Given the description of an element on the screen output the (x, y) to click on. 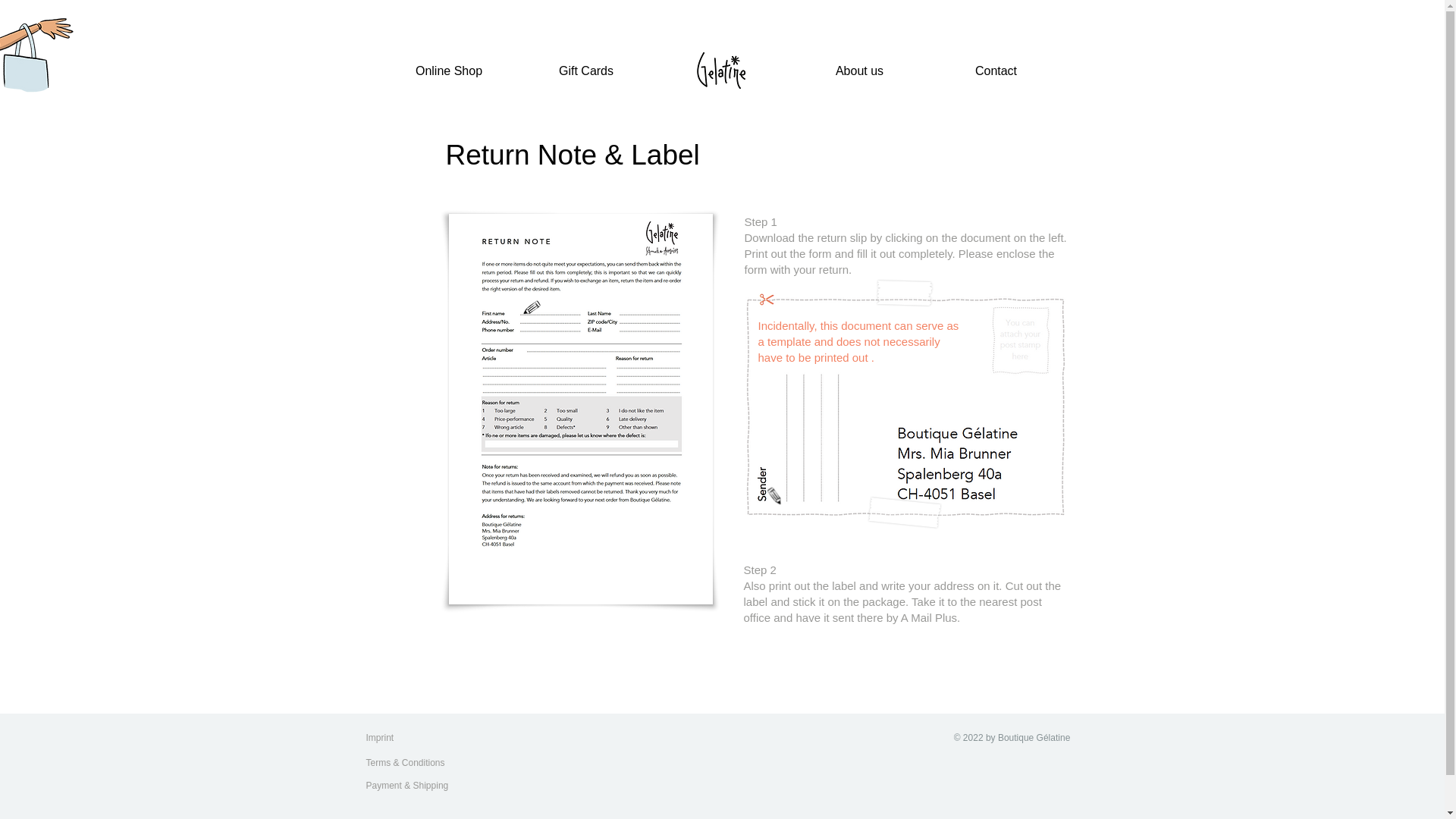
Online Shop (449, 71)
About us (860, 71)
Hand drawn pencil (531, 307)
Hand drawn pencil (777, 491)
Contact (996, 71)
Gift Cards (584, 71)
Imprint (395, 737)
